Given the description of an element on the screen output the (x, y) to click on. 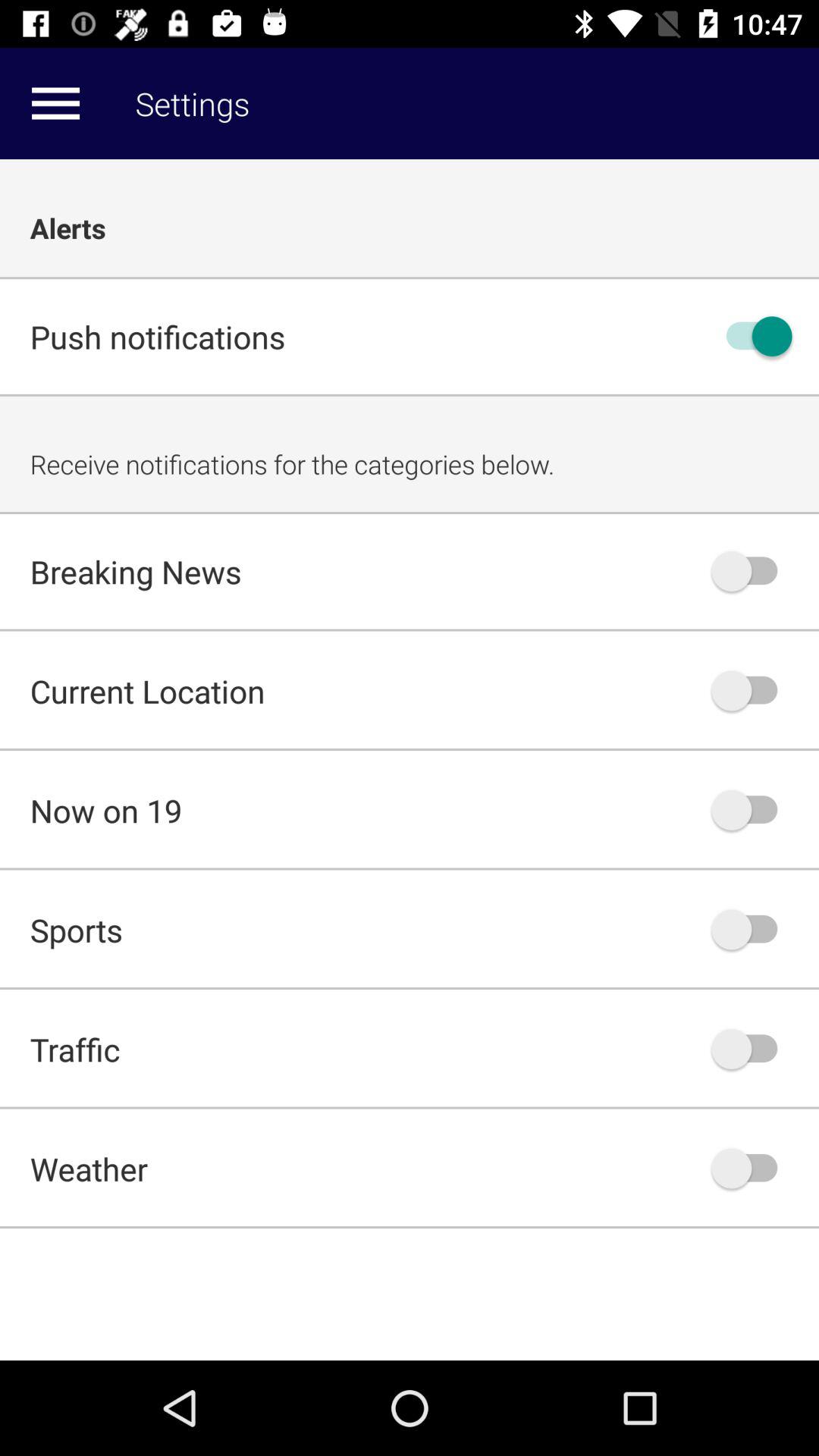
toggle on (751, 336)
